Given the description of an element on the screen output the (x, y) to click on. 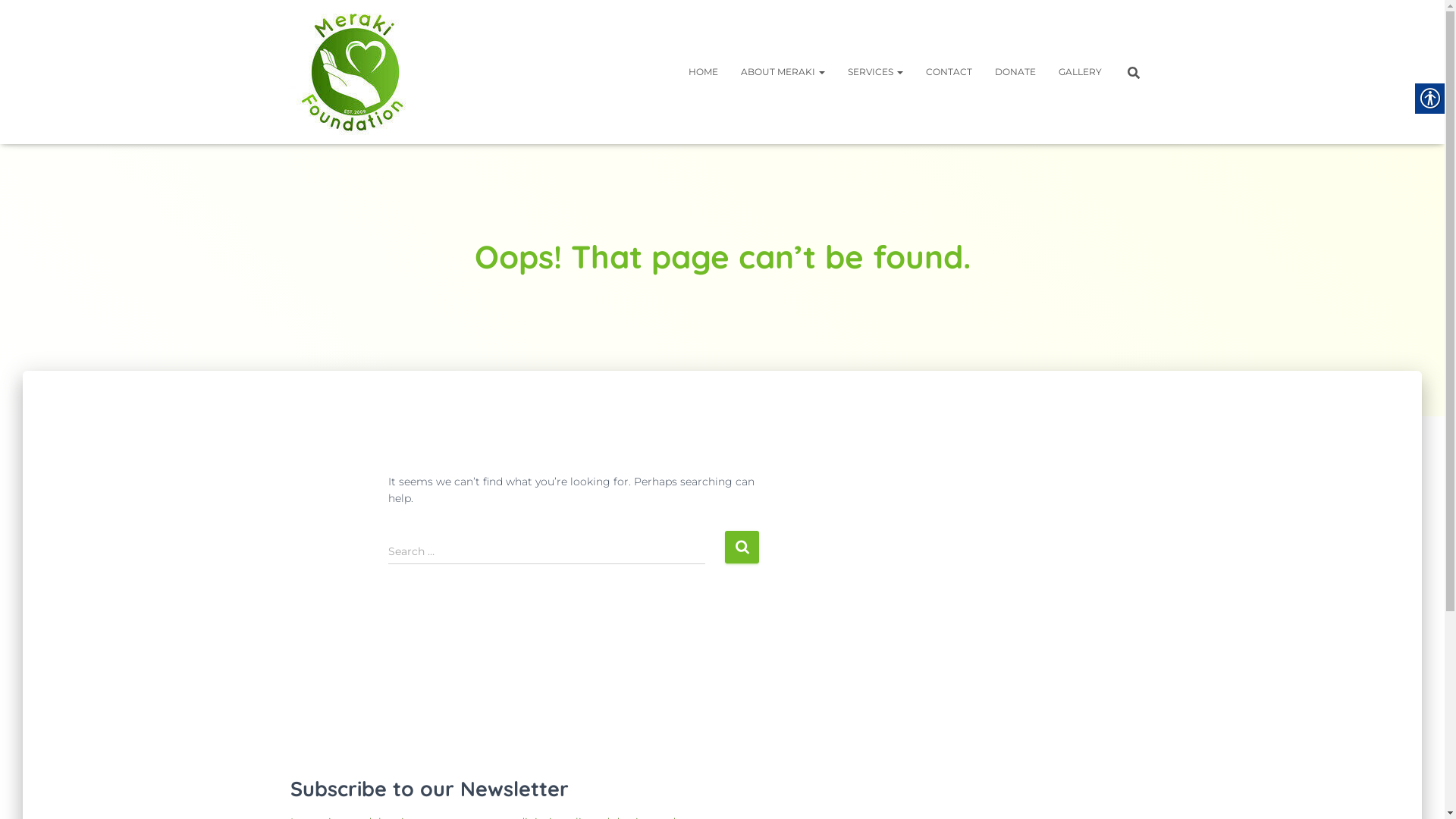
HOME Element type: text (702, 72)
ABOUT MERAKI Element type: text (782, 72)
CONTACT Element type: text (948, 72)
GALLERY Element type: text (1079, 72)
Search Element type: text (741, 546)
Search Element type: text (3, 16)
SERVICES Element type: text (874, 72)
DONATE Element type: text (1014, 72)
Meraki Foundation Element type: hover (354, 71)
